Given the description of an element on the screen output the (x, y) to click on. 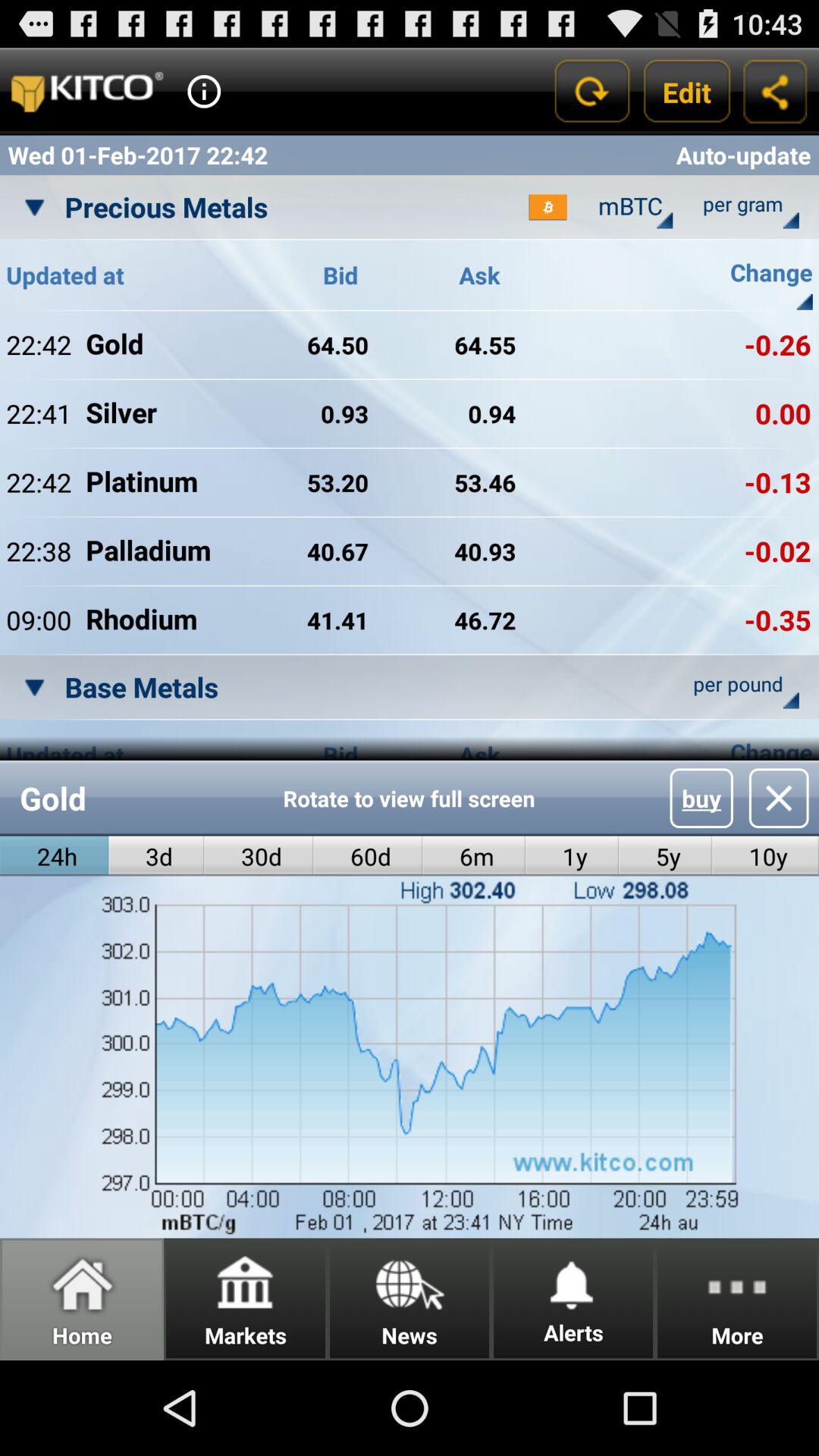
click for more info (204, 91)
